Given the description of an element on the screen output the (x, y) to click on. 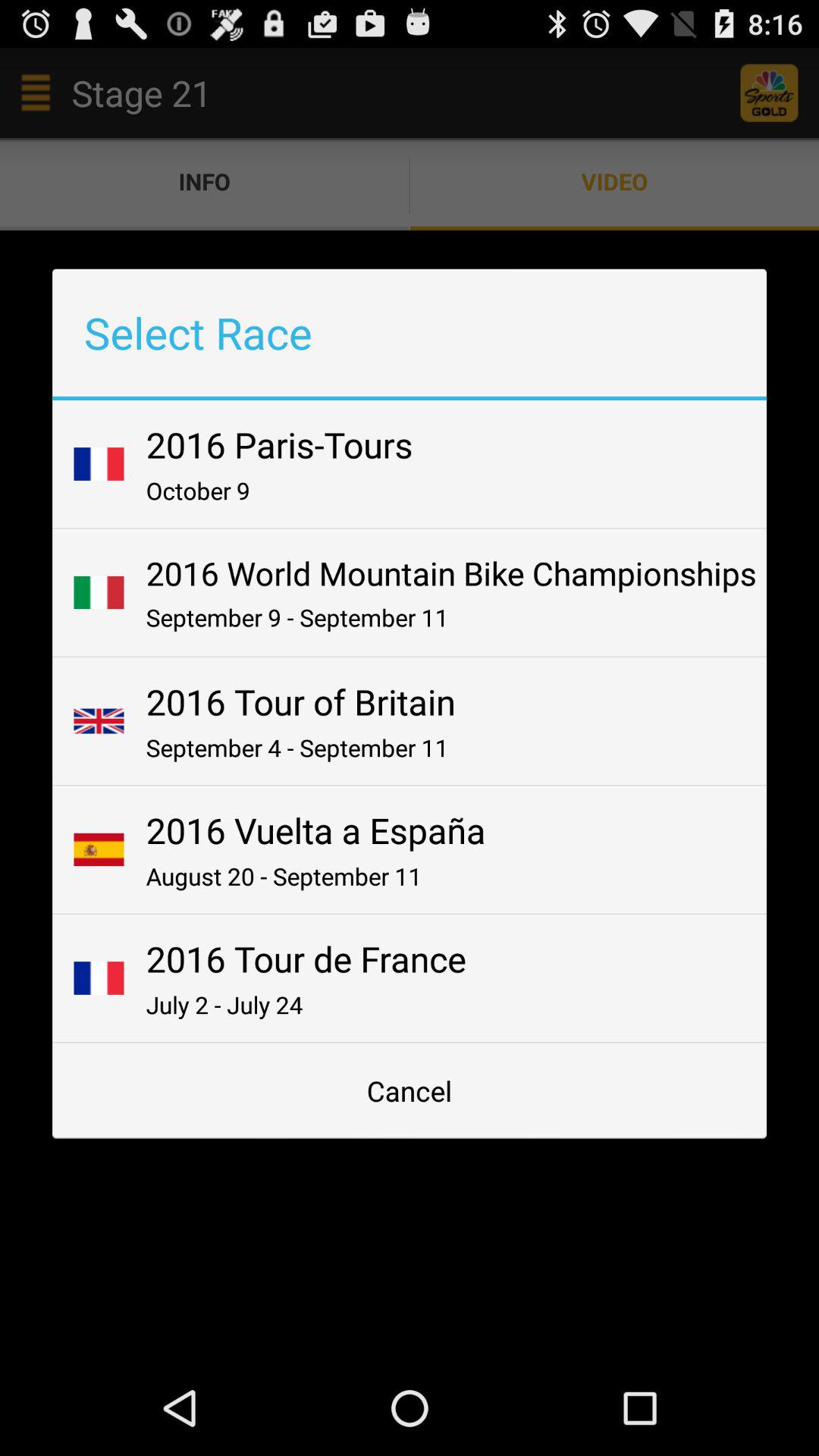
open app below july 2 july item (409, 1090)
